Given the description of an element on the screen output the (x, y) to click on. 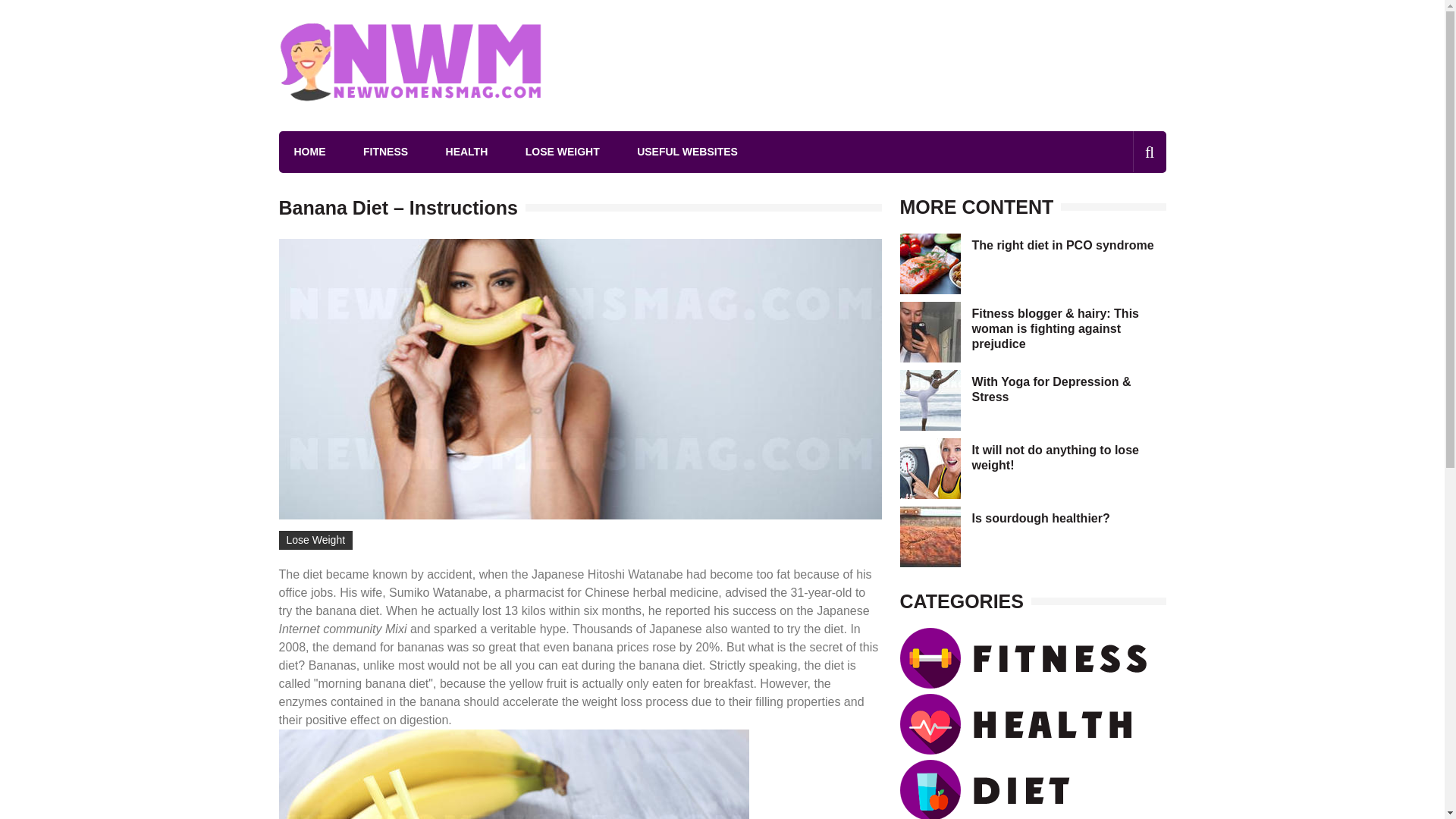
HEALTH (466, 151)
LOSE WEIGHT (562, 151)
USEFUL WEBSITES (687, 151)
FITNESS (384, 151)
The right diet in PCO syndrome (1063, 245)
Search (1123, 216)
New Women's Mag (398, 123)
Is sourdough healthier? (1040, 517)
It will not do anything to lose weight! (1055, 457)
